Given the description of an element on the screen output the (x, y) to click on. 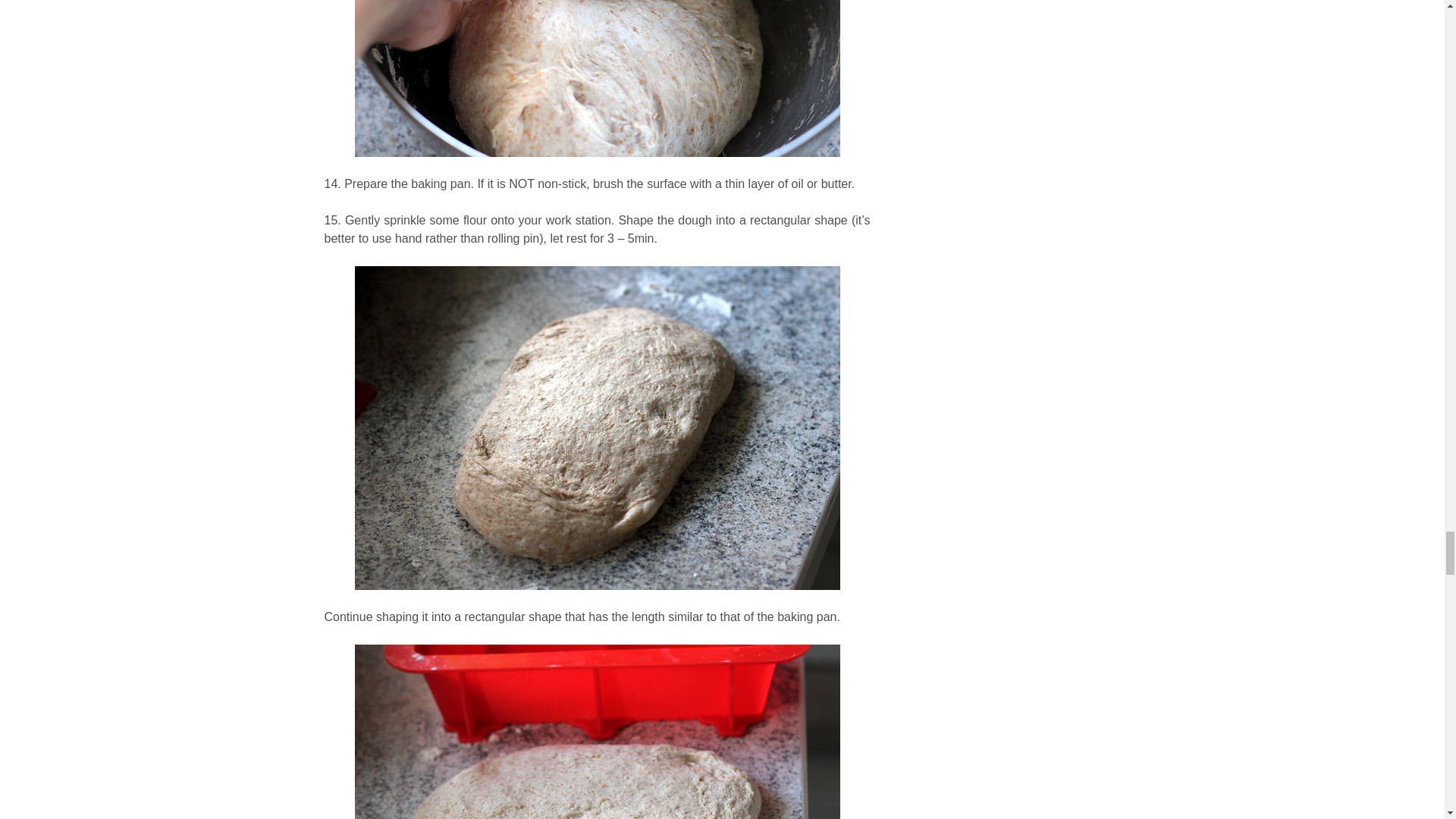
 rose cake 3 by LinhTrang9185, on Flickr (597, 95)
